Given the description of an element on the screen output the (x, y) to click on. 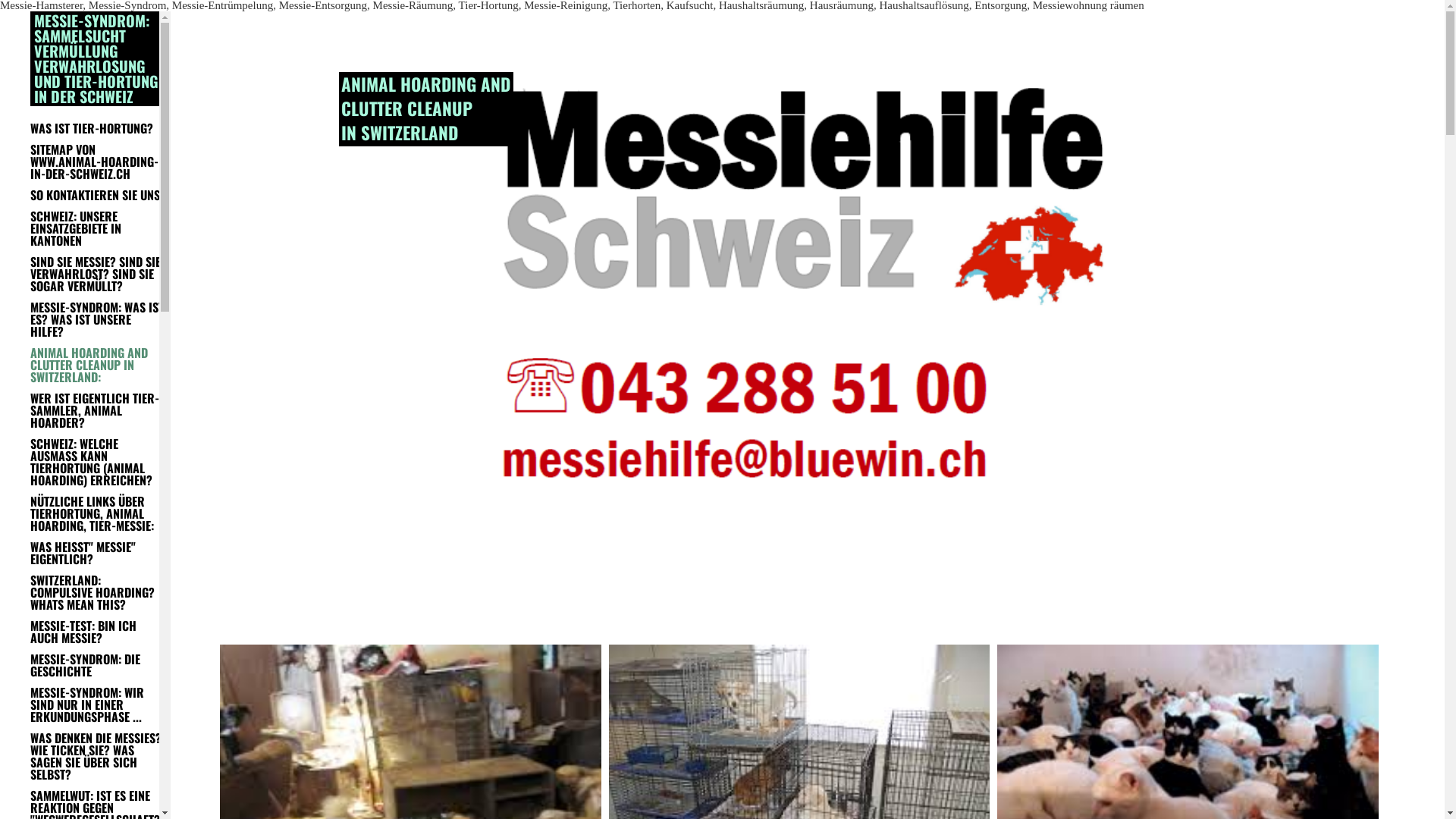
MESSIE-TEST: BIN ICH AUCH MESSIE? Element type: text (97, 631)
MESSIE-SYNDROM: WIR SIND NUR IN EINER ERKUNDUNGSPHASE ... Element type: text (97, 704)
ANIMAL HOARDING AND CLUTTER CLEANUP IN SWITZERLAND: Element type: text (97, 364)
WAS HEISST" MESSIE" EIGENTLICH? Element type: text (97, 552)
MESSIE-SYNDROM: WAS IST ES? WAS IST UNSERE HILFE? Element type: text (97, 319)
WER IST EIGENTLICH TIER-SAMMLER, ANIMAL HOARDER? Element type: text (97, 410)
WAS IST TIER-HORTUNG? Element type: text (97, 127)
SCHWEIZ: UNSERE EINSATZGEBIETE IN KANTONEN Element type: text (97, 228)
SO KONTAKTIEREN SIE UNS! Element type: text (97, 194)
SWITZERLAND: COMPULSIVE HOARDING? WHATS MEAN THIS? Element type: text (97, 592)
SITEMAP VON WWW.ANIMAL-HOARDING-IN-DER-SCHWEIZ.CH Element type: text (97, 161)
MESSIE-SYNDROM: DIE GESCHICHTE Element type: text (97, 664)
